Given the description of an element on the screen output the (x, y) to click on. 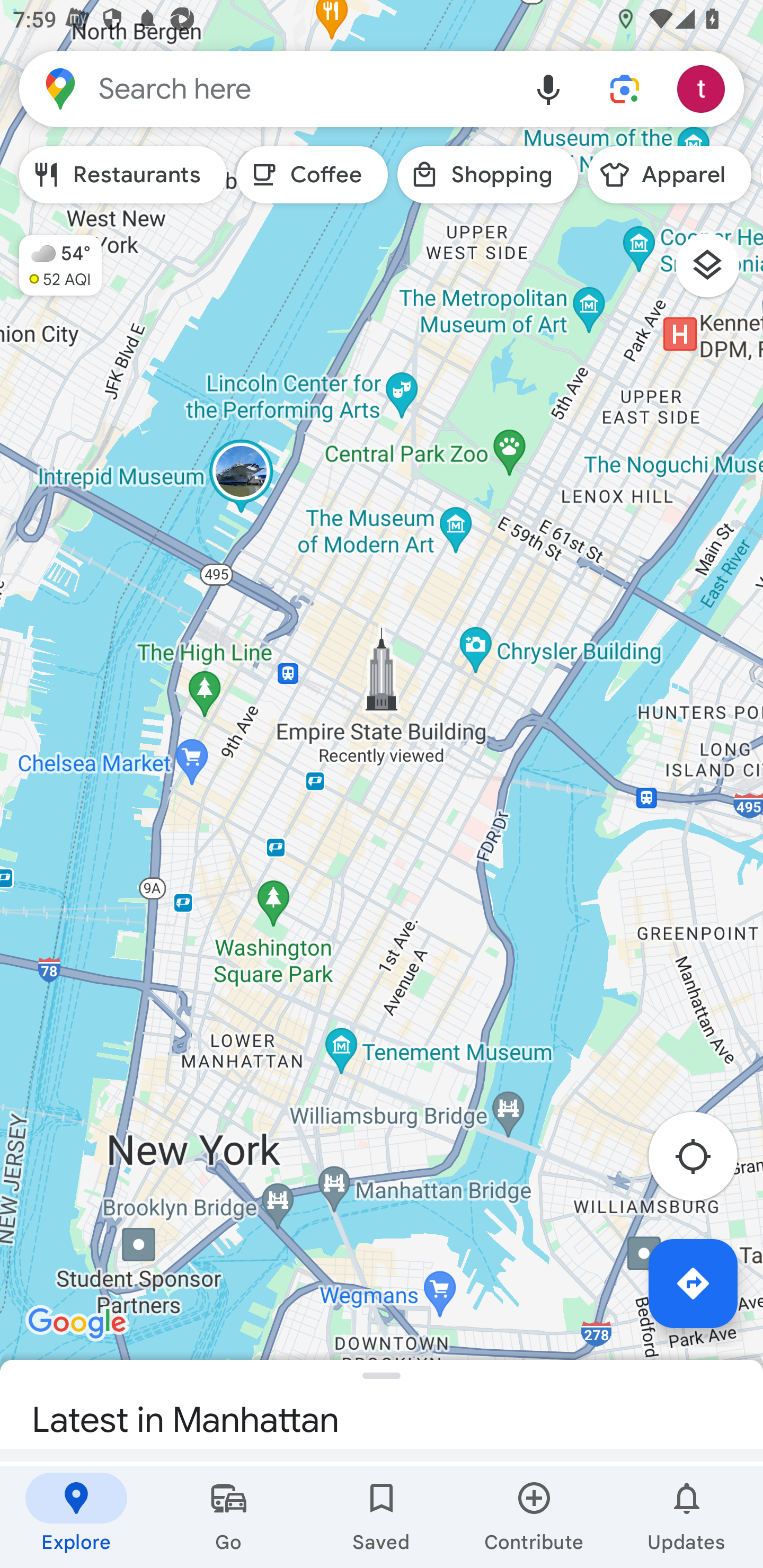
Search here (264, 88)
Voice search (548, 88)
Lens in Maps (624, 88)
Restaurants Search for Restaurants (122, 174)
Coffee Search for Coffee (311, 174)
Shopping Search for Shopping (487, 174)
Apparel Search for Apparel (669, 174)
Cloudy, 54°, Moderate, 52 AQI 54° 52 AQI (50, 257)
Layers (716, 271)
Re-center map to your location (702, 1161)
Directions (692, 1283)
Go (228, 1517)
Saved (381, 1517)
Contribute (533, 1517)
Updates (686, 1517)
